Given the description of an element on the screen output the (x, y) to click on. 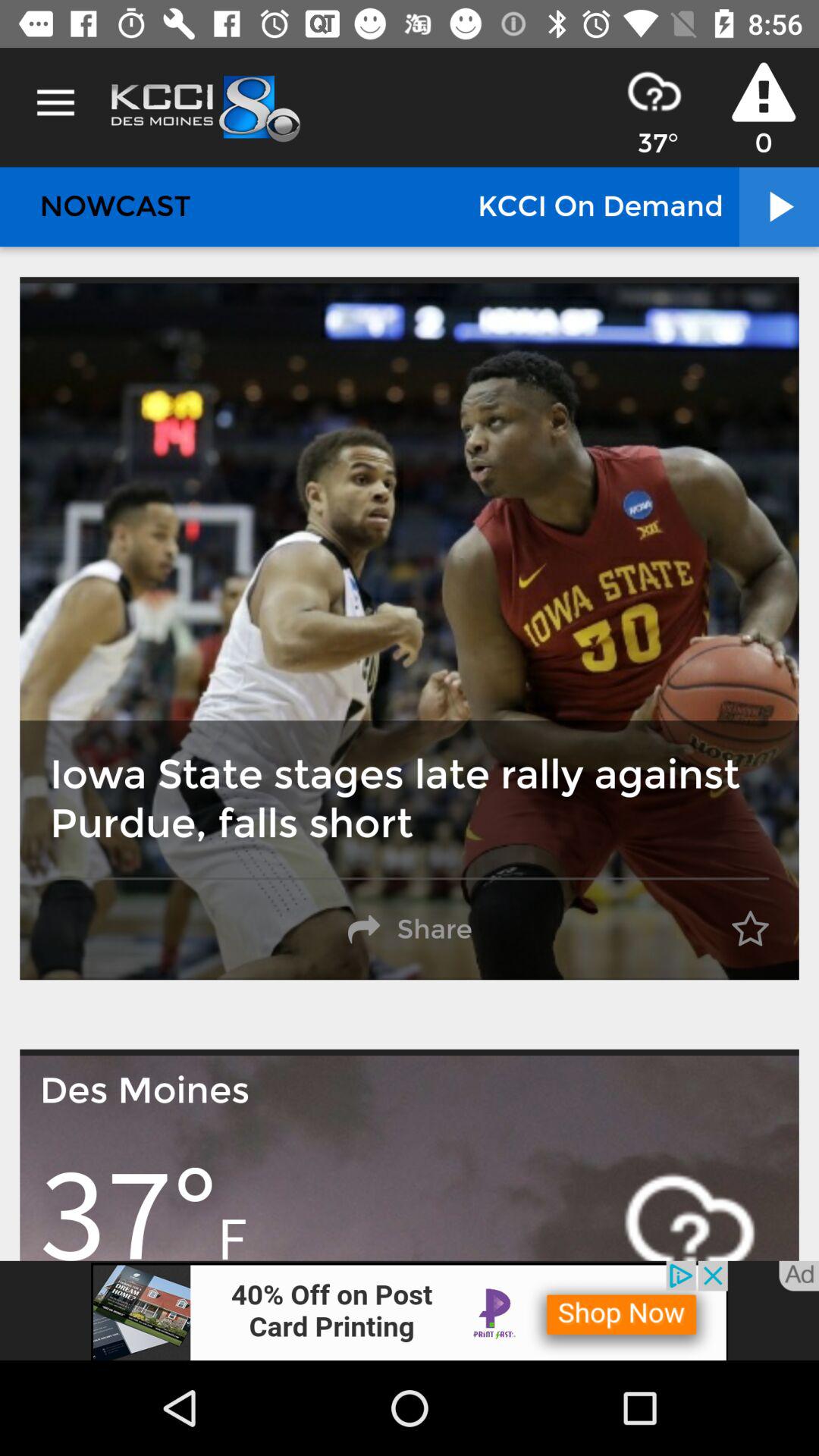
go to addverdisment (409, 1310)
